Given the description of an element on the screen output the (x, y) to click on. 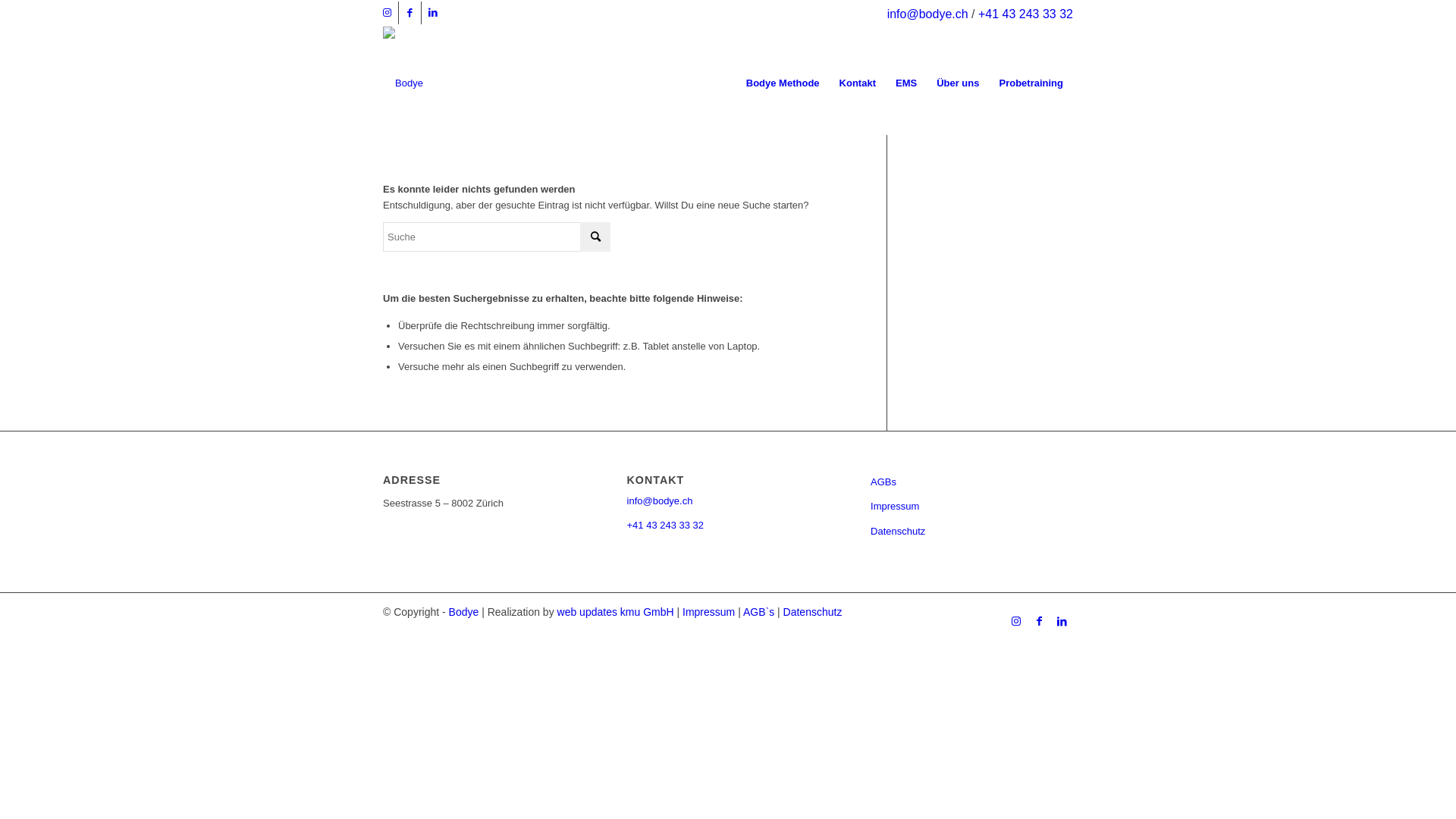
web updates kmu GmbH Element type: text (615, 611)
info@bodye.ch Element type: text (927, 13)
Impressum Element type: text (708, 611)
LinkedIn Element type: hover (1061, 620)
Kontakt Element type: text (857, 83)
Probetraining Element type: text (1030, 83)
Impressum Element type: text (894, 505)
AGBs Element type: text (883, 481)
Instagram Element type: hover (387, 12)
Instagram Element type: hover (1015, 620)
Datenschutz Element type: text (812, 611)
EMS Element type: text (905, 83)
LinkedIn Element type: hover (432, 12)
Bodye EMS Personal Training Logo Element type: hover (402, 83)
Datenschutz Element type: text (897, 530)
+41 43 243 33 32 Element type: text (665, 524)
Bodye Methode Element type: text (782, 83)
Facebook Element type: hover (409, 12)
AGB`s Element type: text (758, 611)
+41 43 243 33 32 Element type: text (1025, 13)
info@bodye.ch Element type: text (660, 500)
Facebook Element type: hover (1038, 620)
Bodye Element type: text (463, 611)
